Given the description of an element on the screen output the (x, y) to click on. 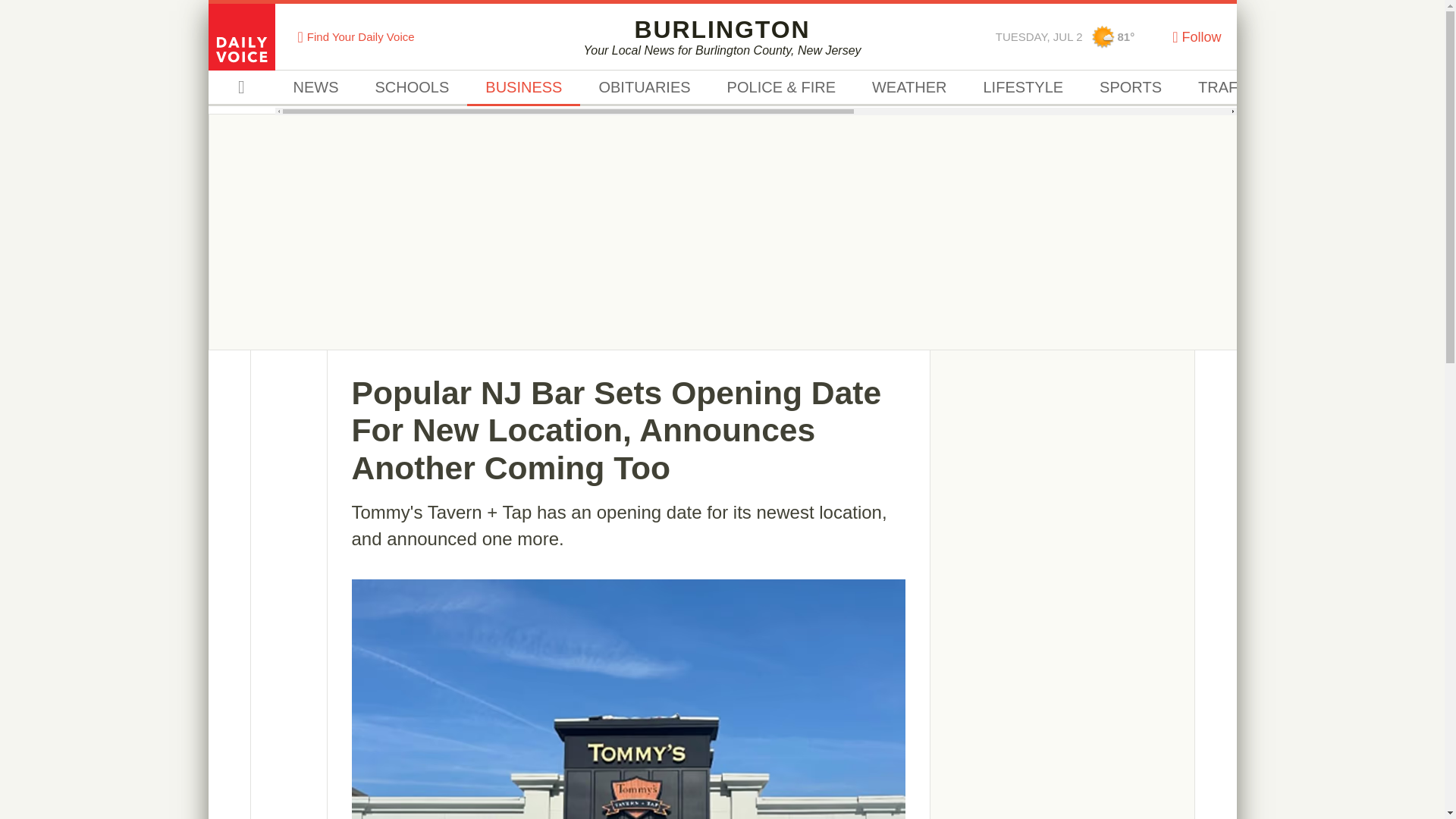
A Few Clouds (1102, 36)
TRAFFIC (1229, 88)
BUSINESS (523, 88)
SPORTS (1130, 88)
LEGAL (1322, 88)
LIFESTYLE (721, 36)
SCHOOLS (1022, 88)
NEWS (411, 88)
OBITUARIES (315, 88)
WEATHER (643, 88)
